Given the description of an element on the screen output the (x, y) to click on. 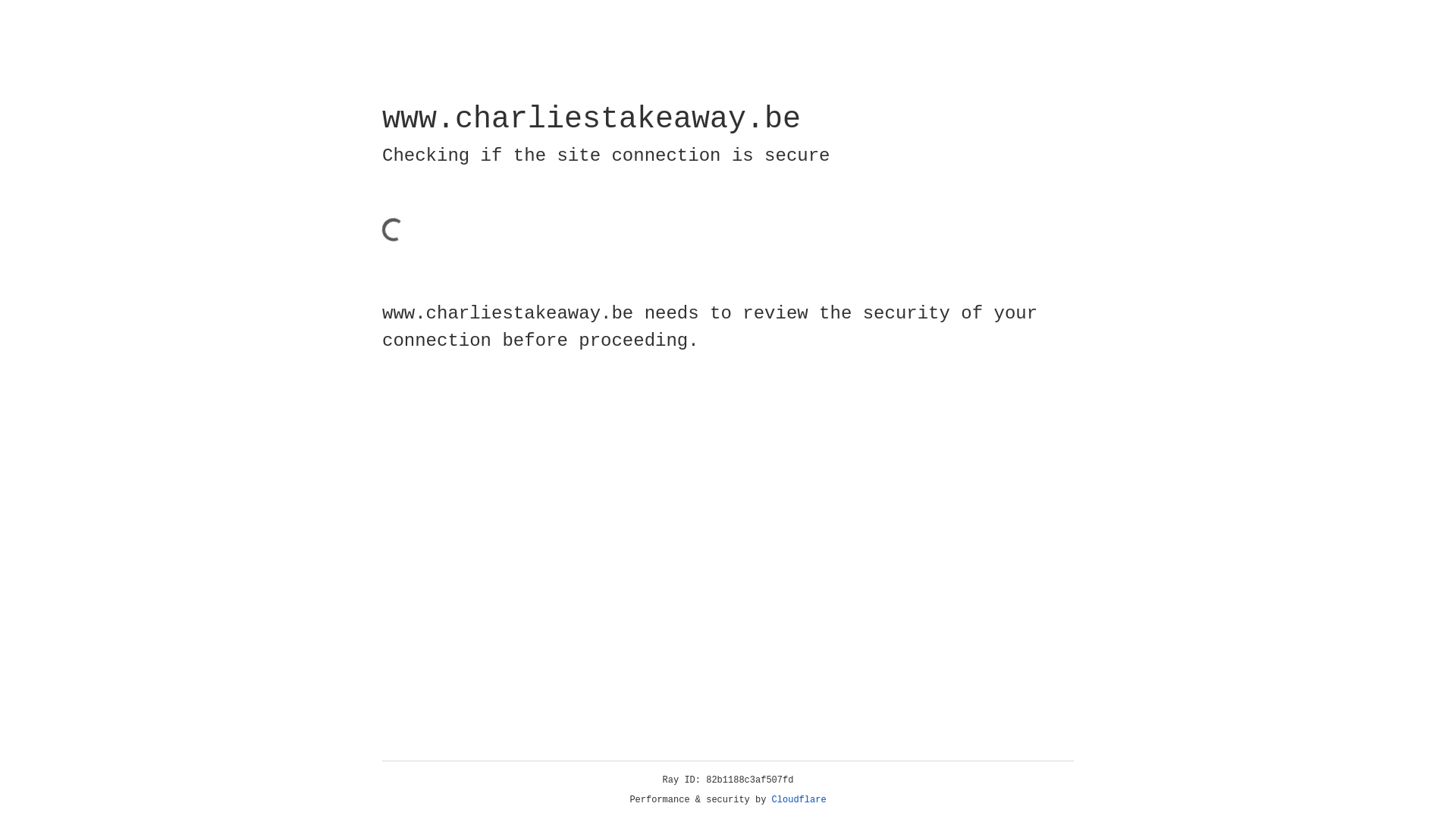
Cloudflare Element type: text (798, 799)
